Given the description of an element on the screen output the (x, y) to click on. 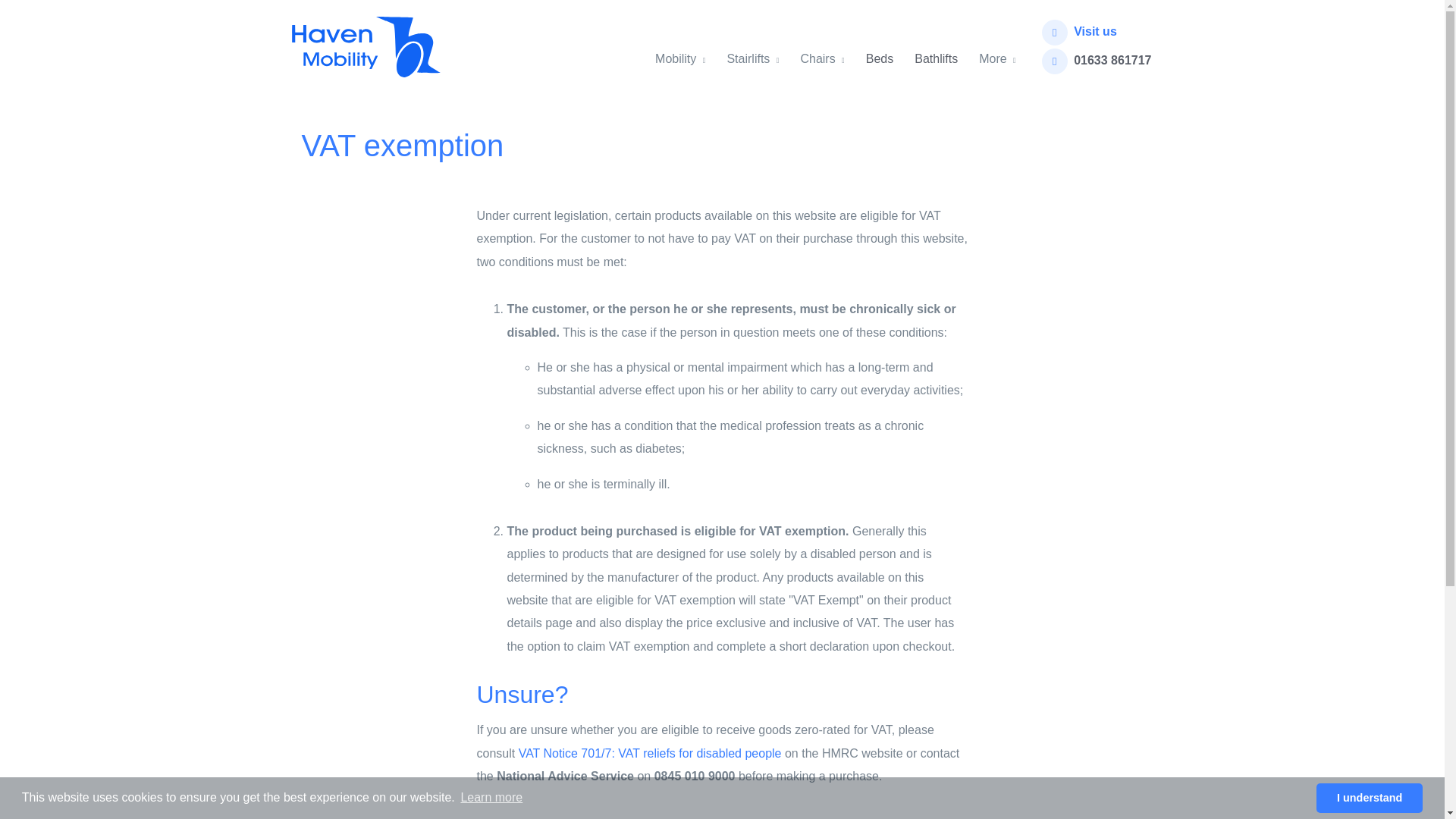
Visit us (1095, 31)
Learn more (491, 797)
I understand (1369, 797)
Stairlifts (752, 46)
